Given the description of an element on the screen output the (x, y) to click on. 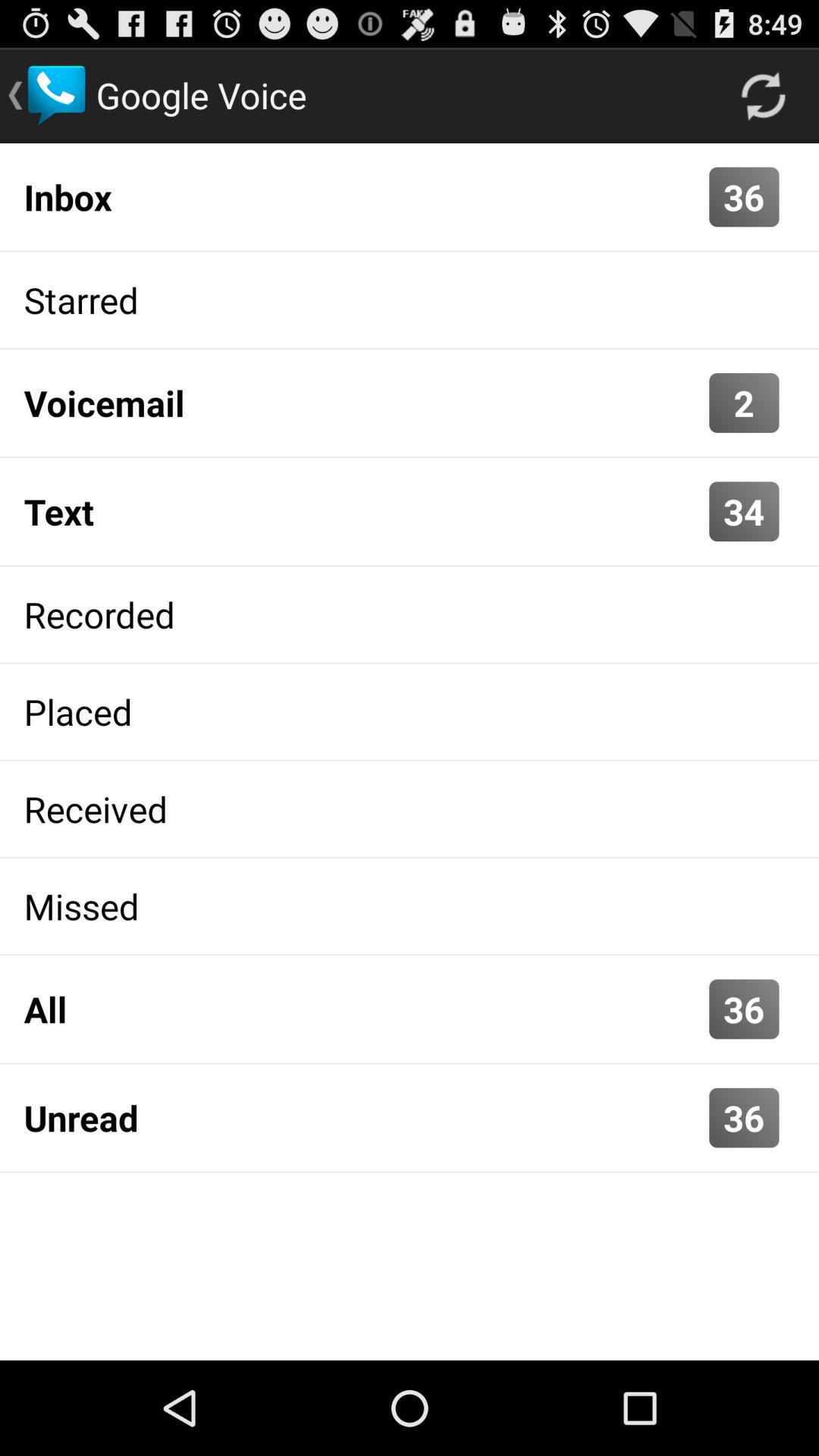
tap the app below the received item (409, 906)
